Given the description of an element on the screen output the (x, y) to click on. 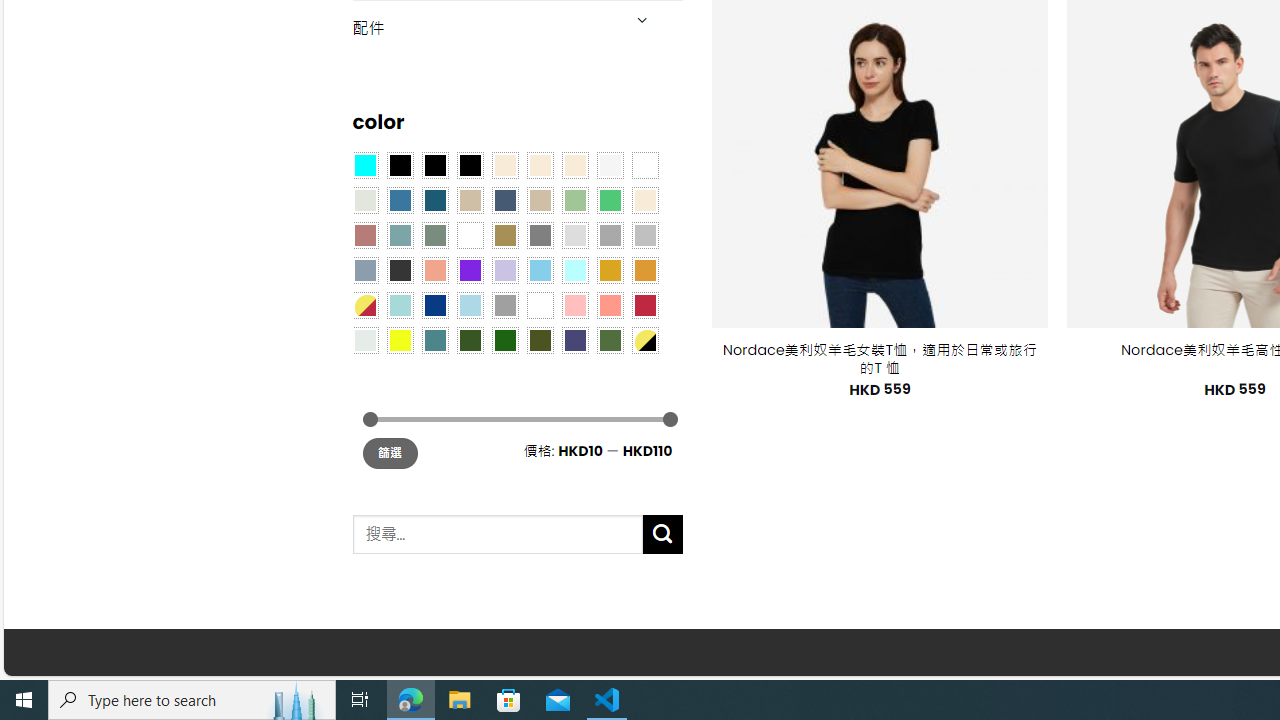
Dull Nickle (364, 339)
